Given the description of an element on the screen output the (x, y) to click on. 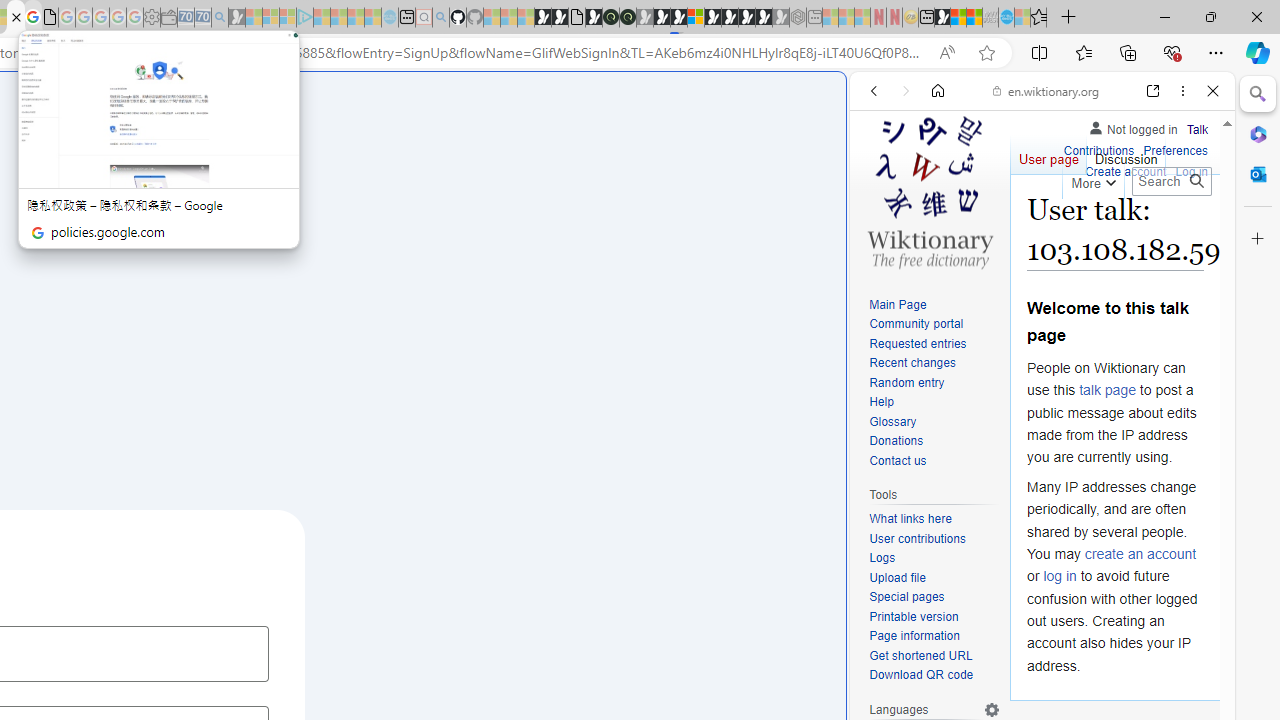
Special pages (906, 596)
Recent changes (912, 362)
Earth has six continents not seven, radical new study claims (973, 17)
Printable version (913, 616)
Create account (1125, 172)
Talk (1197, 126)
talk page (1107, 390)
Recent changes (934, 363)
